Given the description of an element on the screen output the (x, y) to click on. 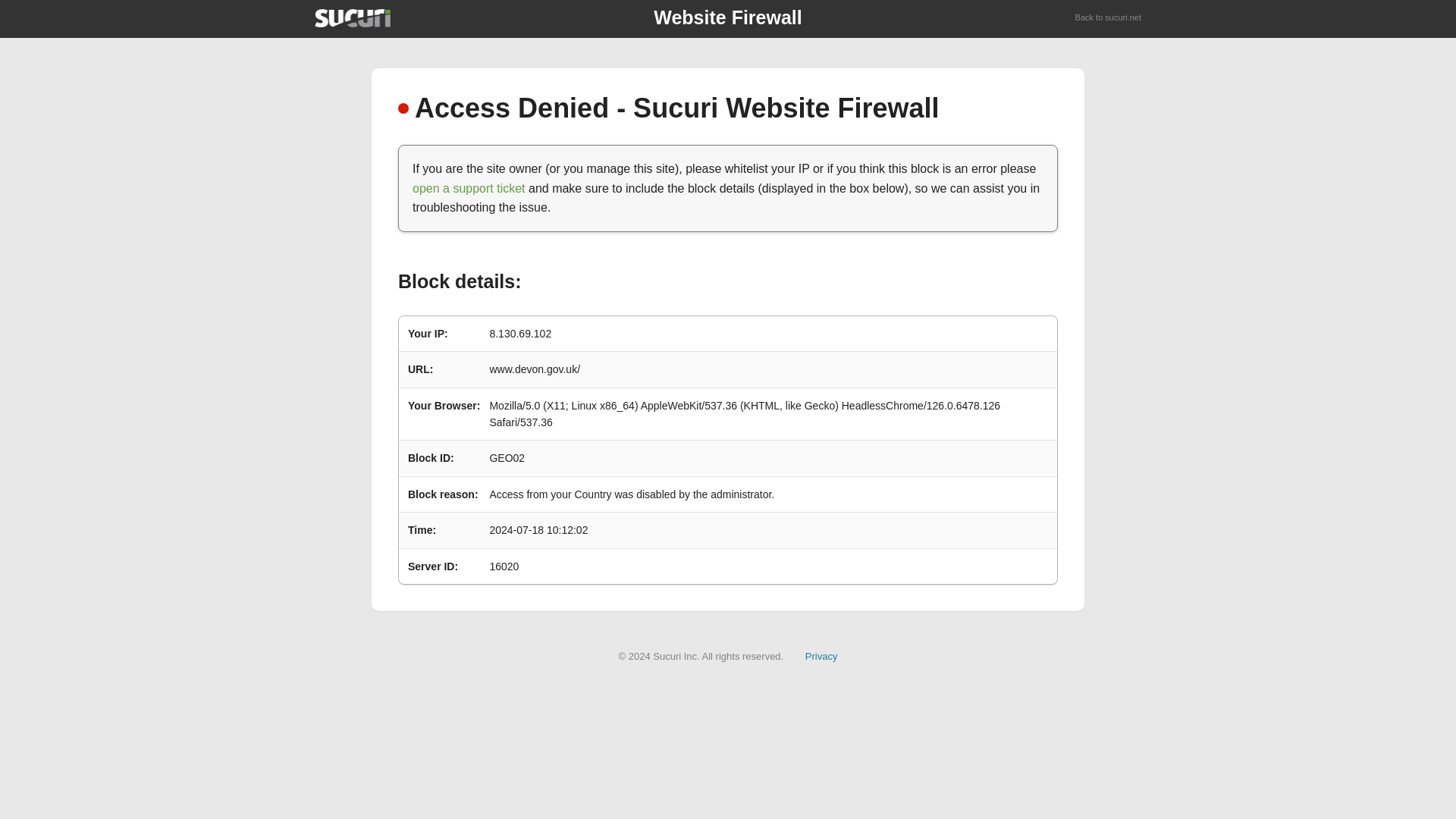
Back to sucuri.net (1108, 18)
open a support ticket (468, 187)
Privacy (821, 655)
